Given the description of an element on the screen output the (x, y) to click on. 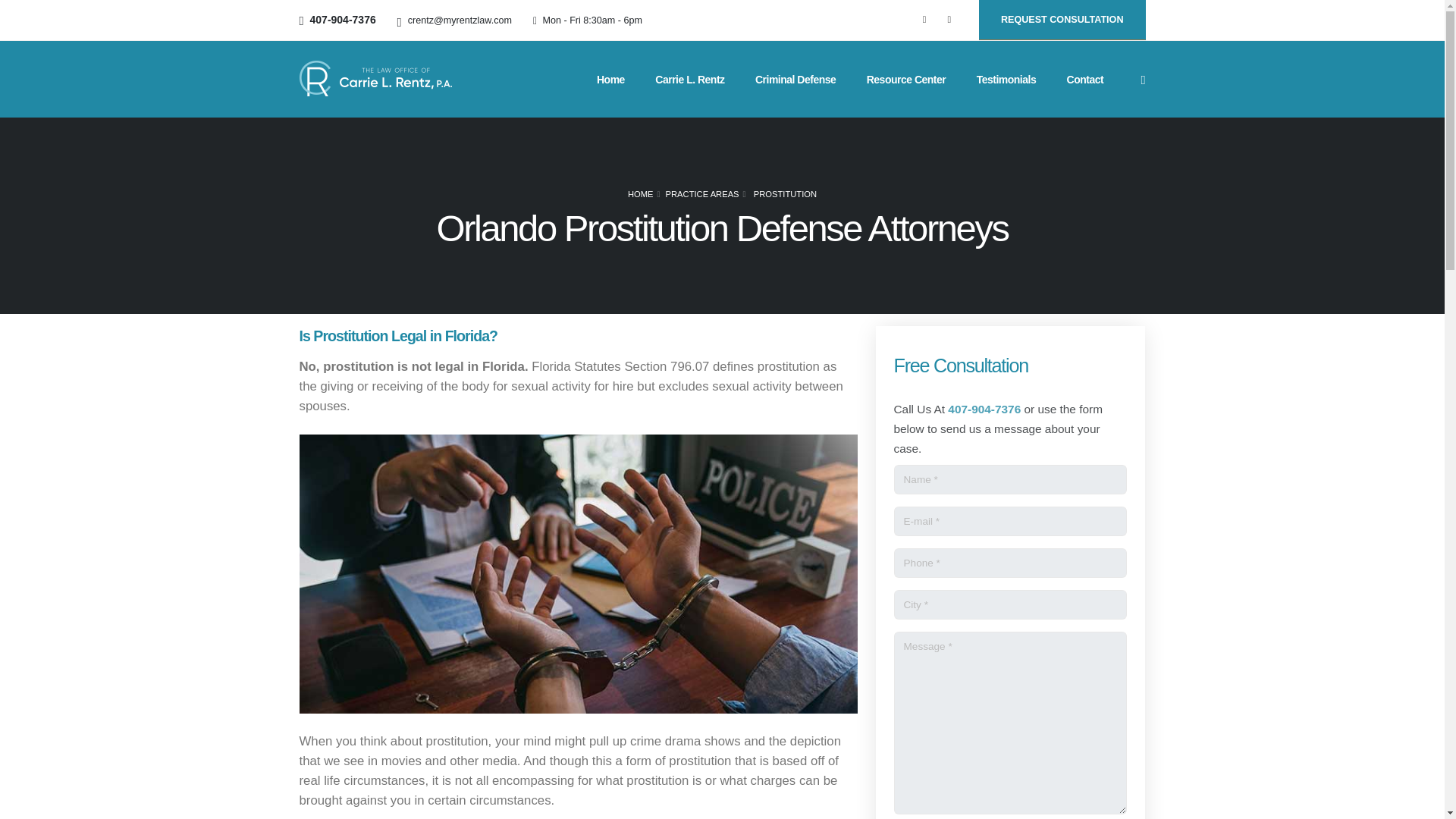
Meet Orlando Criminal Defense Attorney Carrie L. Rentz (689, 79)
407-904-7376 (983, 408)
Carrie L. Rentz (689, 79)
Criminal Defense (795, 79)
REQUEST CONSULTATION (1061, 20)
Orlando Criminal Defense Attorneys (795, 79)
Resource Center (905, 79)
Facebook (924, 19)
407-904-7376 (342, 19)
Twitter (949, 19)
PRACTICE AREAS (702, 194)
Testimonials (1004, 79)
HOME (640, 194)
